Given the description of an element on the screen output the (x, y) to click on. 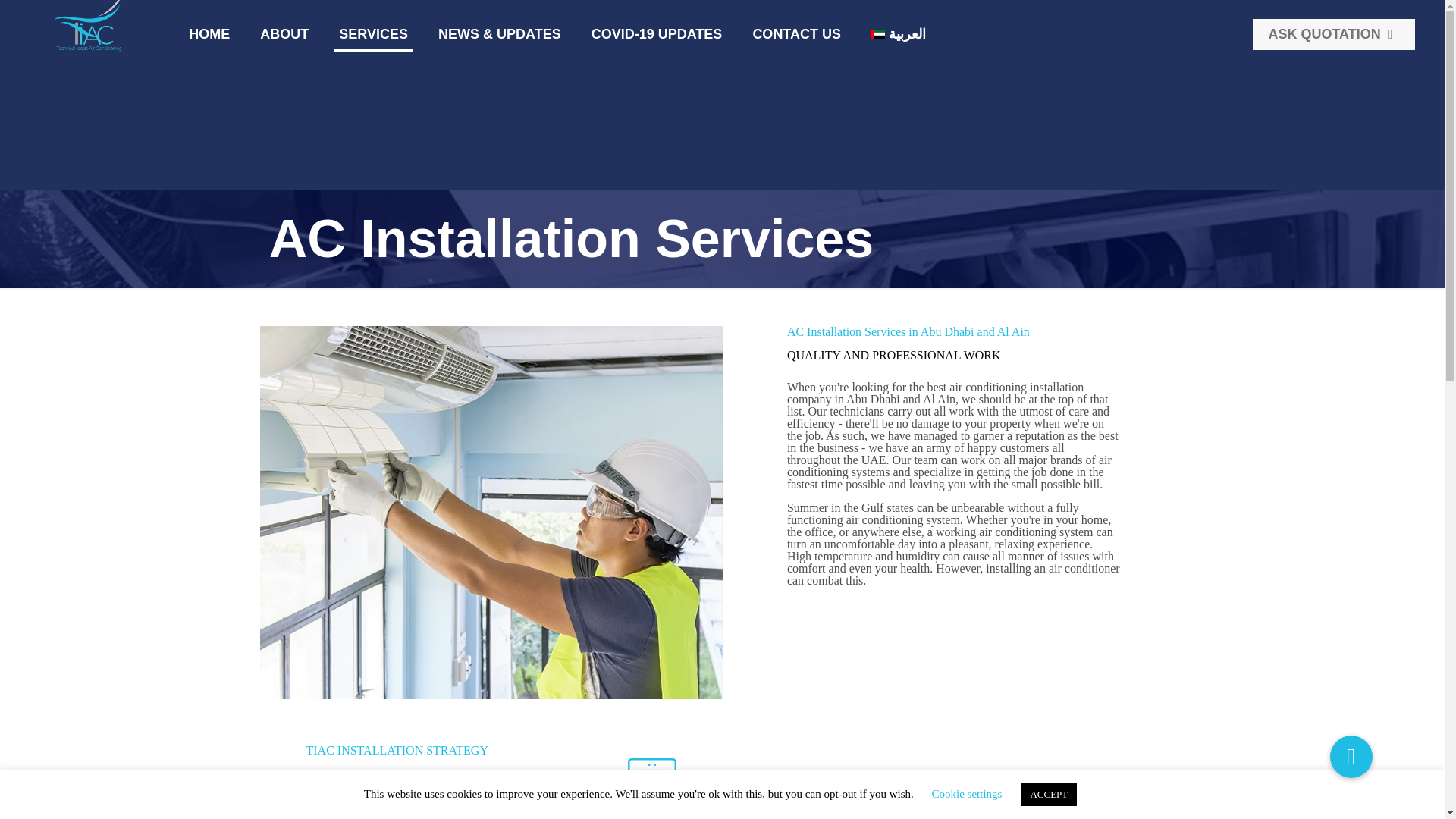
ACCEPT (1048, 793)
CONTACT US (796, 33)
ABOUT (283, 33)
Cookie settings (967, 793)
HOME (208, 33)
Technical Ideas Air Conditioning (90, 26)
ASK QUOTATION (1333, 33)
COVID-19 UPDATES (657, 33)
SERVICES (373, 33)
